Given the description of an element on the screen output the (x, y) to click on. 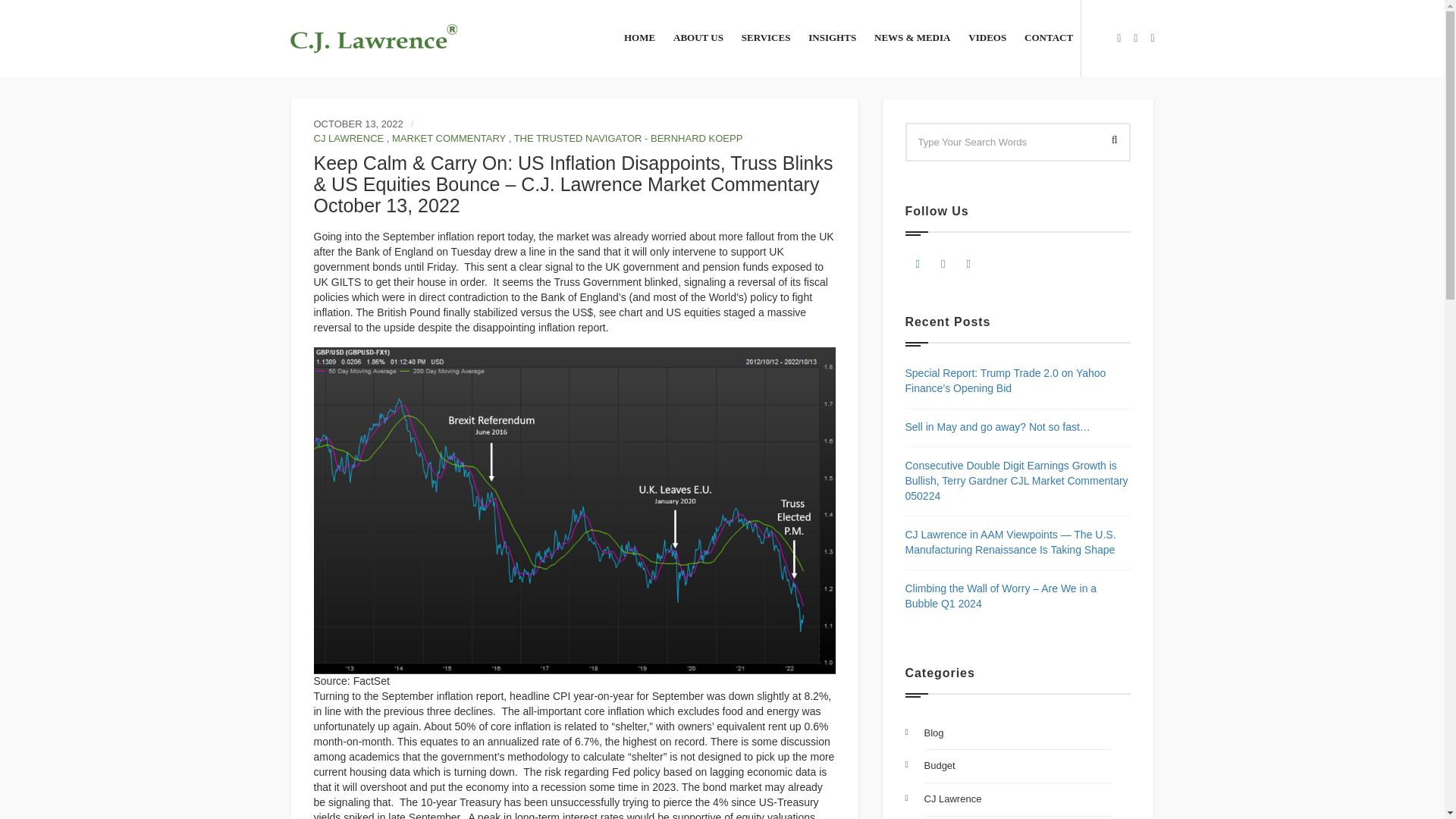
Search (1110, 141)
THE TRUSTED NAVIGATOR - BERNHARD KOEPP (627, 138)
Search (1110, 141)
CJ LAWRENCE (349, 138)
MARKET COMMENTARY (448, 138)
